Given the description of an element on the screen output the (x, y) to click on. 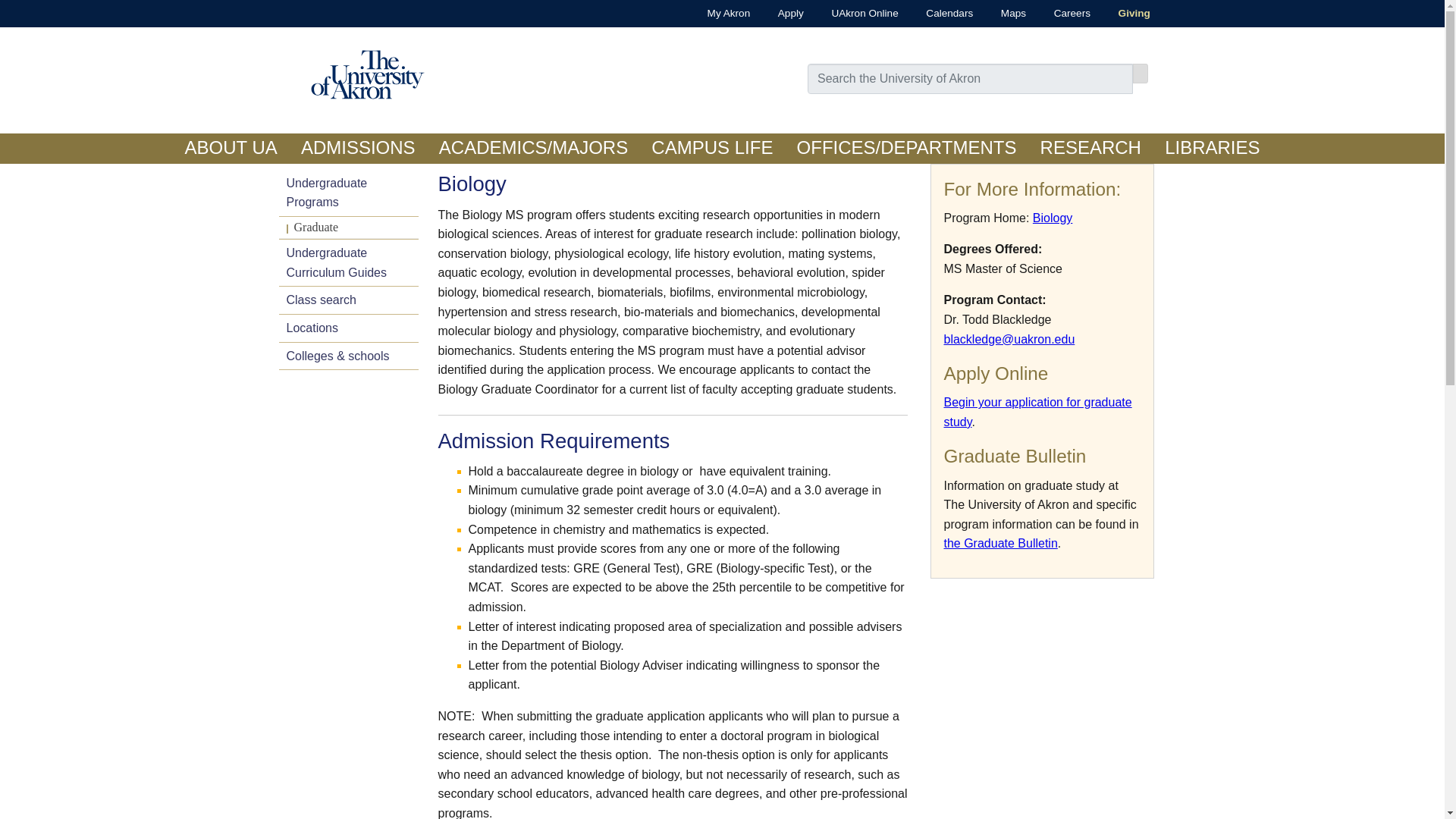
My Akron (714, 13)
Apply (776, 13)
Locations (349, 328)
Giving (1120, 13)
CAMPUS LIFE (712, 148)
Begin your application for graduate study (1037, 411)
LIBRARIES (1212, 148)
Calendars (936, 13)
the Graduate Bulletin (1000, 543)
Class search (349, 299)
